Given the description of an element on the screen output the (x, y) to click on. 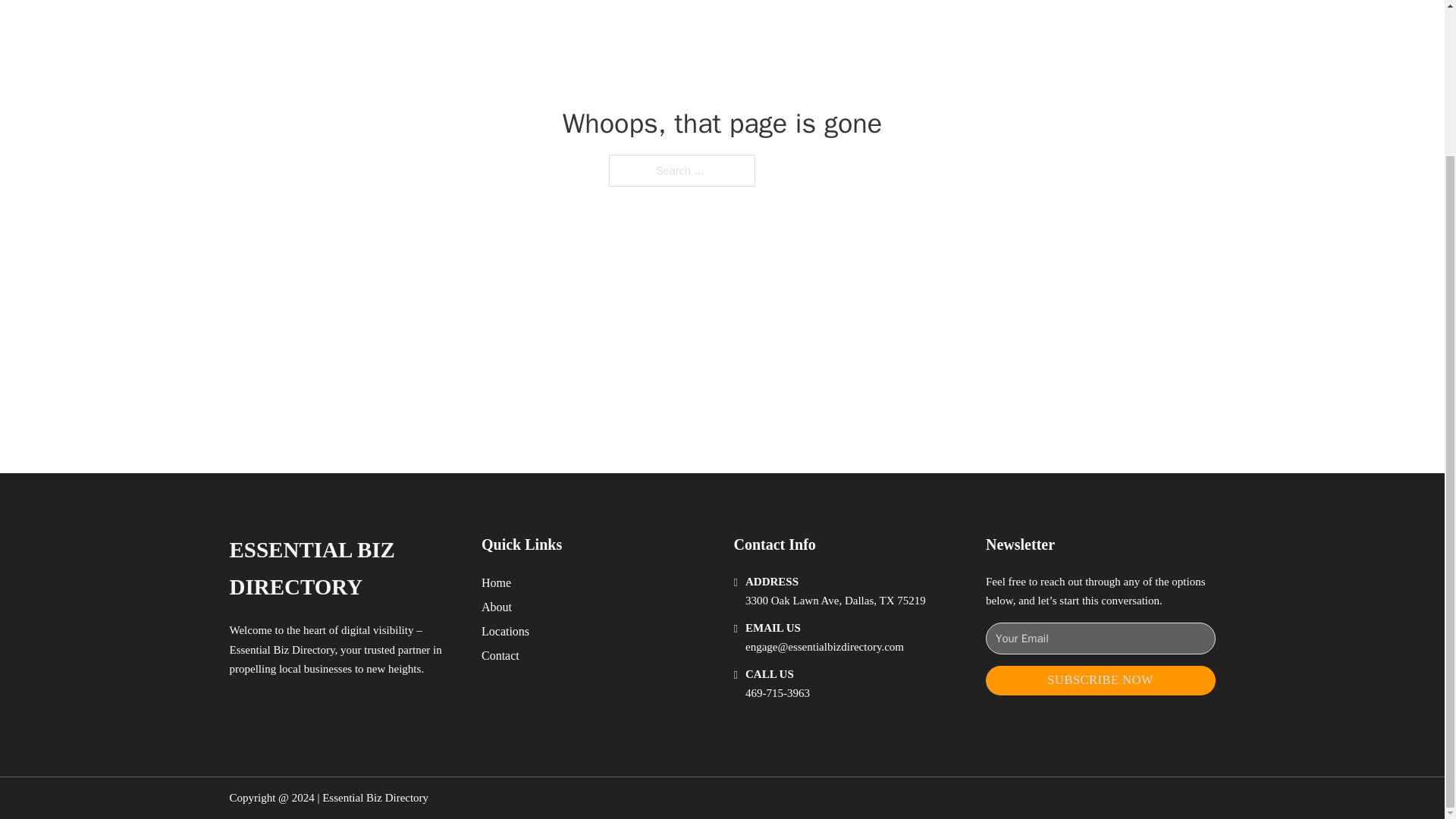
469-715-3963 (777, 693)
SUBSCRIBE NOW (1100, 680)
About (496, 607)
Home (496, 582)
Contact (500, 655)
Locations (505, 630)
ESSENTIAL BIZ DIRECTORY (343, 568)
